Given the description of an element on the screen output the (x, y) to click on. 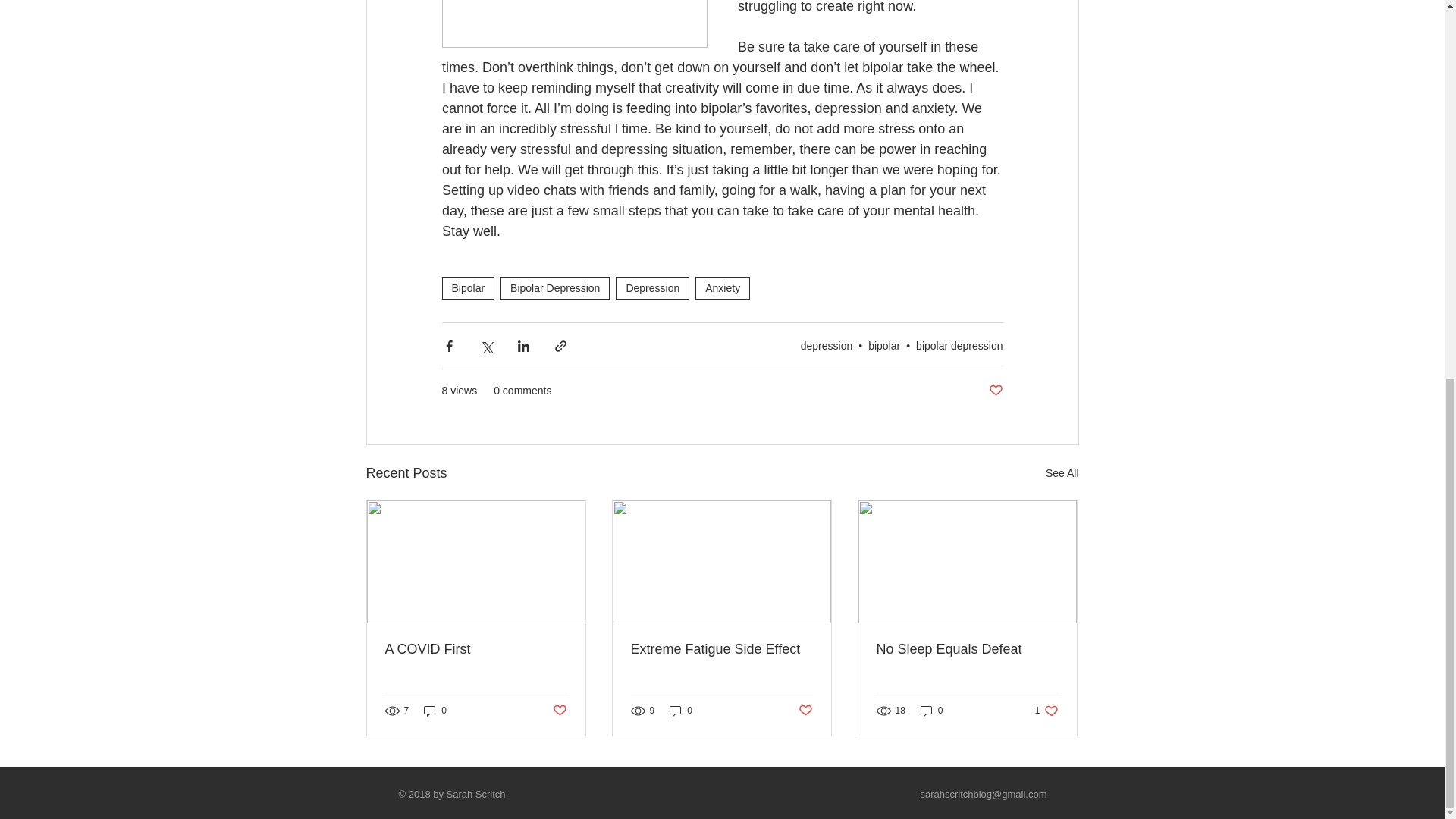
0 (435, 709)
depression (826, 345)
Depression (651, 287)
0 (681, 709)
Anxiety (722, 287)
Post not marked as liked (995, 390)
bipolar (883, 345)
Bipolar (468, 287)
bipolar depression (959, 345)
See All (1061, 473)
A COVID First (476, 649)
0 (931, 709)
Bipolar Depression (555, 287)
Post not marked as liked (558, 710)
